Given the description of an element on the screen output the (x, y) to click on. 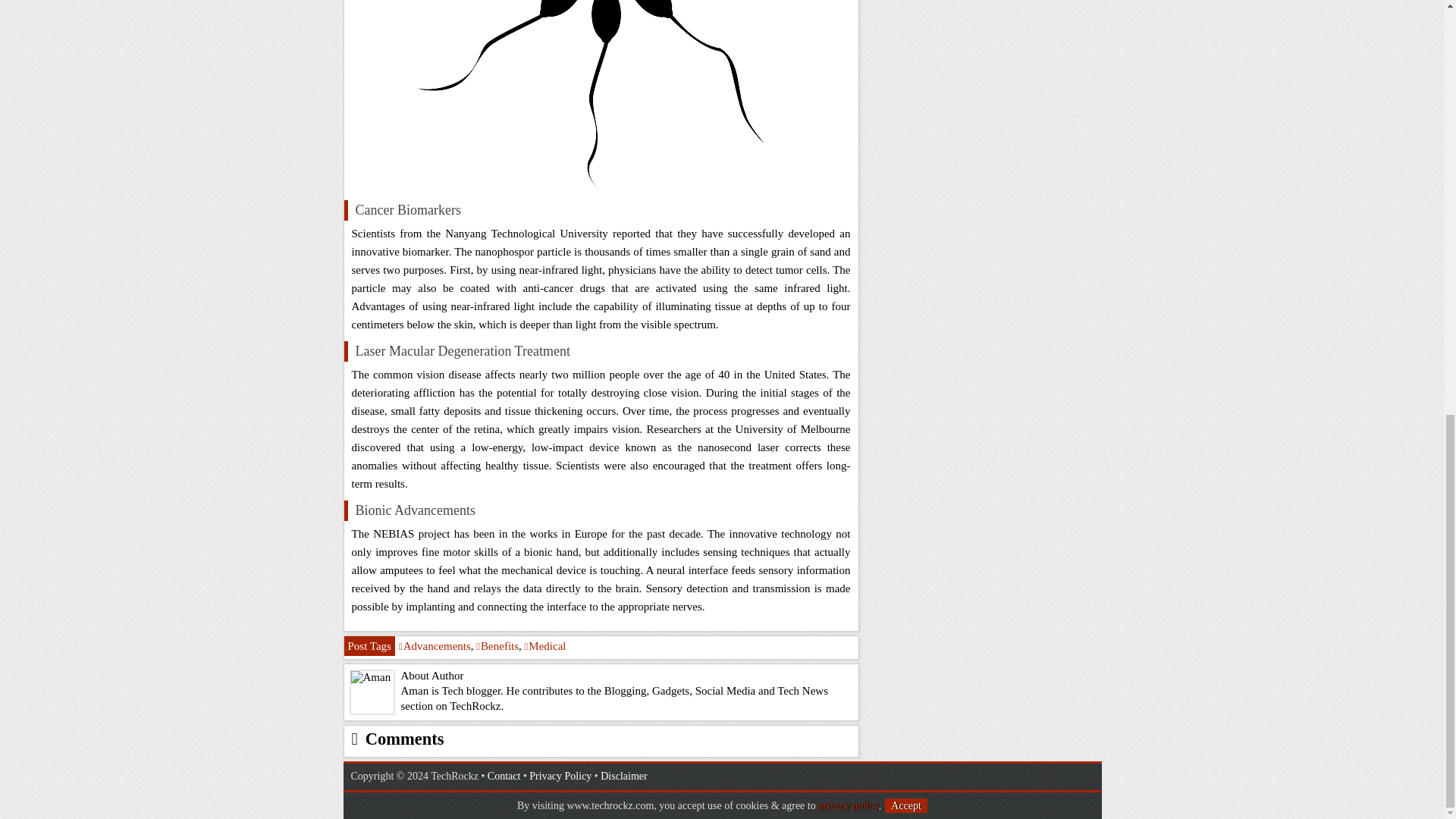
Contact (504, 776)
Advancements (434, 645)
Benefits (497, 645)
Medical (545, 645)
Privacy Policy (560, 776)
Disclaimer (622, 776)
